Given the description of an element on the screen output the (x, y) to click on. 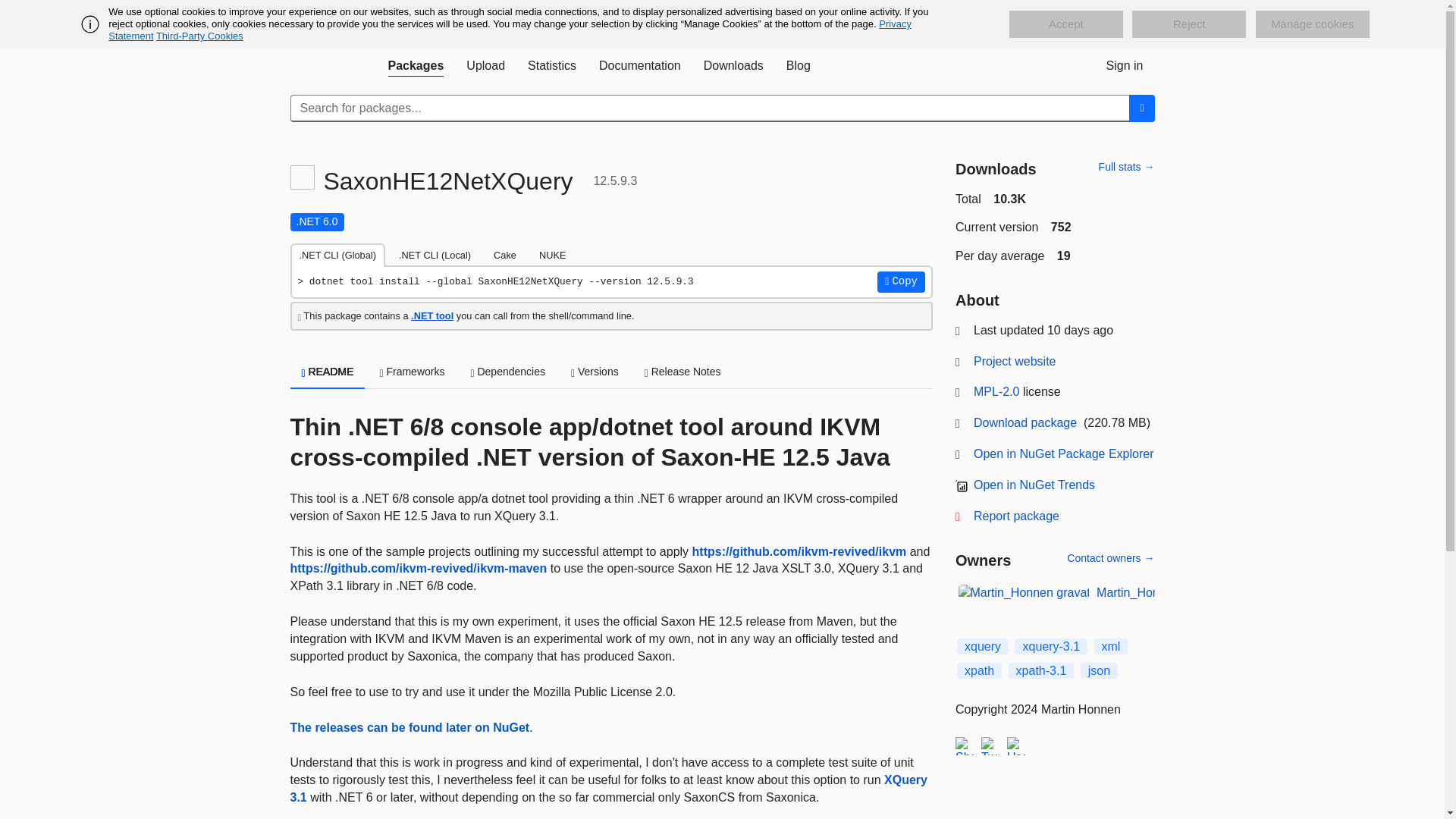
Packages (414, 65)
Upload (485, 65)
XQuery 3.1 (607, 788)
Accept (1065, 23)
Versions (594, 373)
Dependencies (507, 373)
NUKE (552, 254)
.NET tool (431, 315)
